Given the description of an element on the screen output the (x, y) to click on. 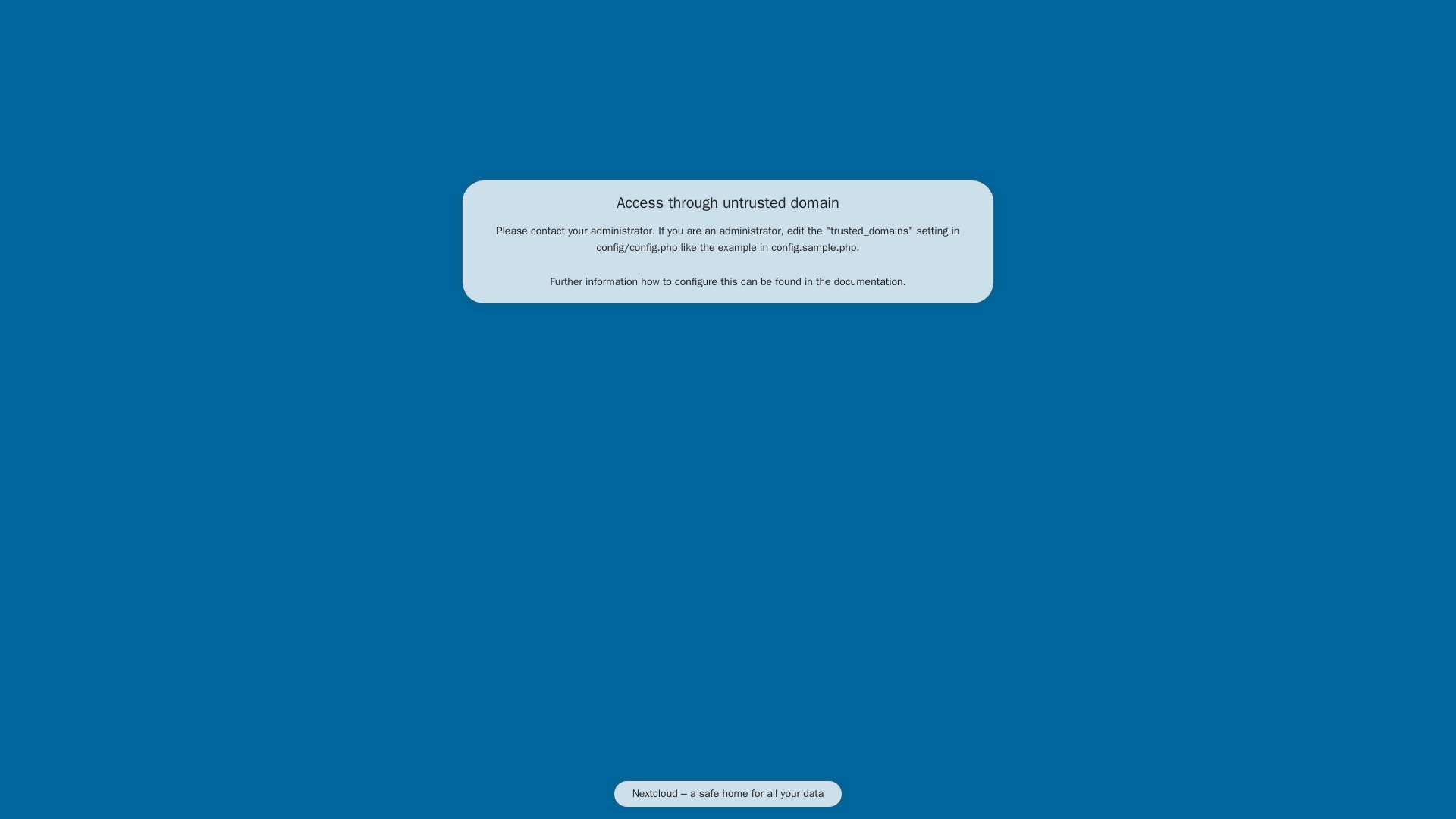
documentation (868, 281)
Nextcloud (654, 793)
